Given the description of an element on the screen output the (x, y) to click on. 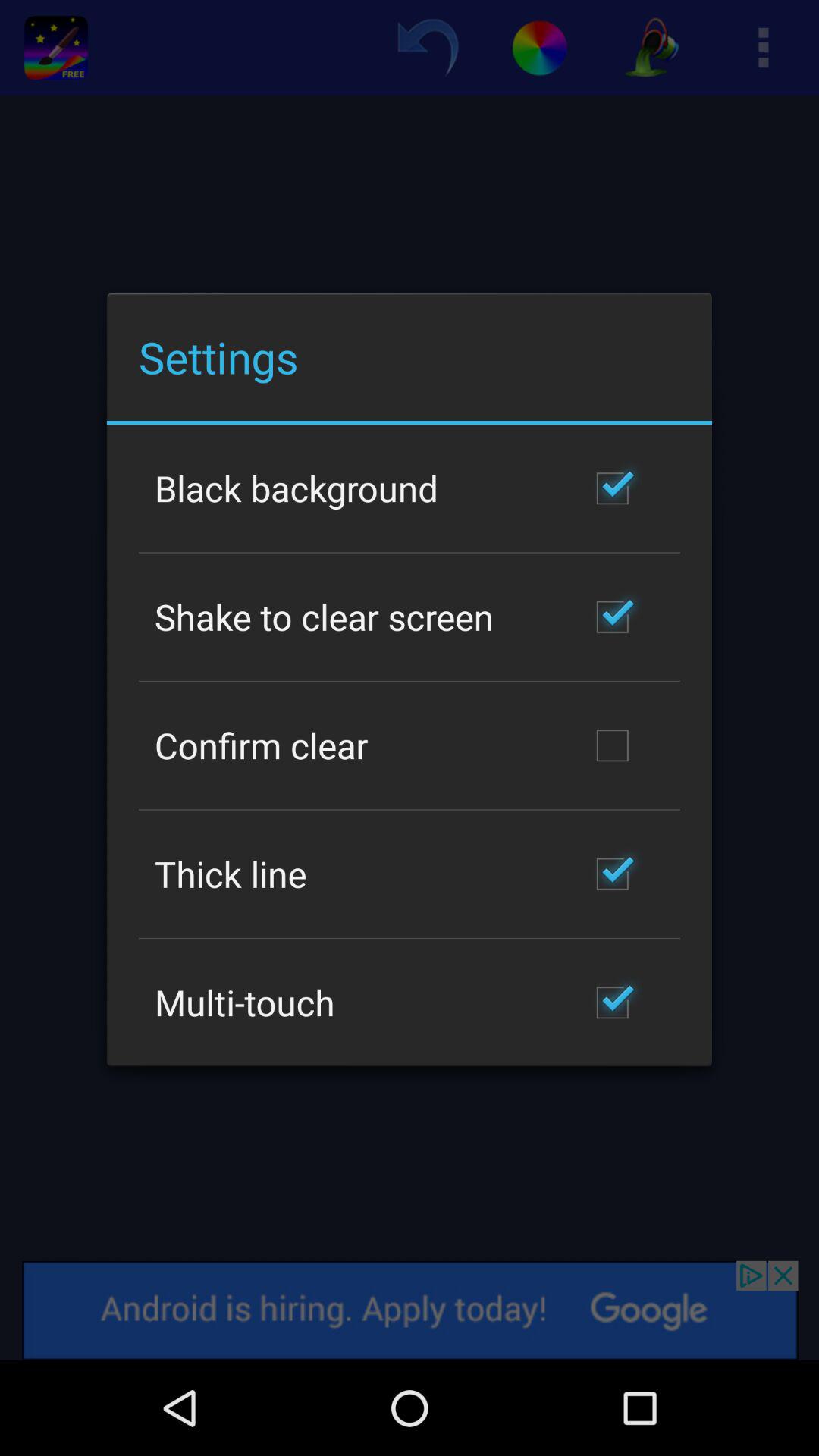
jump until the thick line app (230, 873)
